Given the description of an element on the screen output the (x, y) to click on. 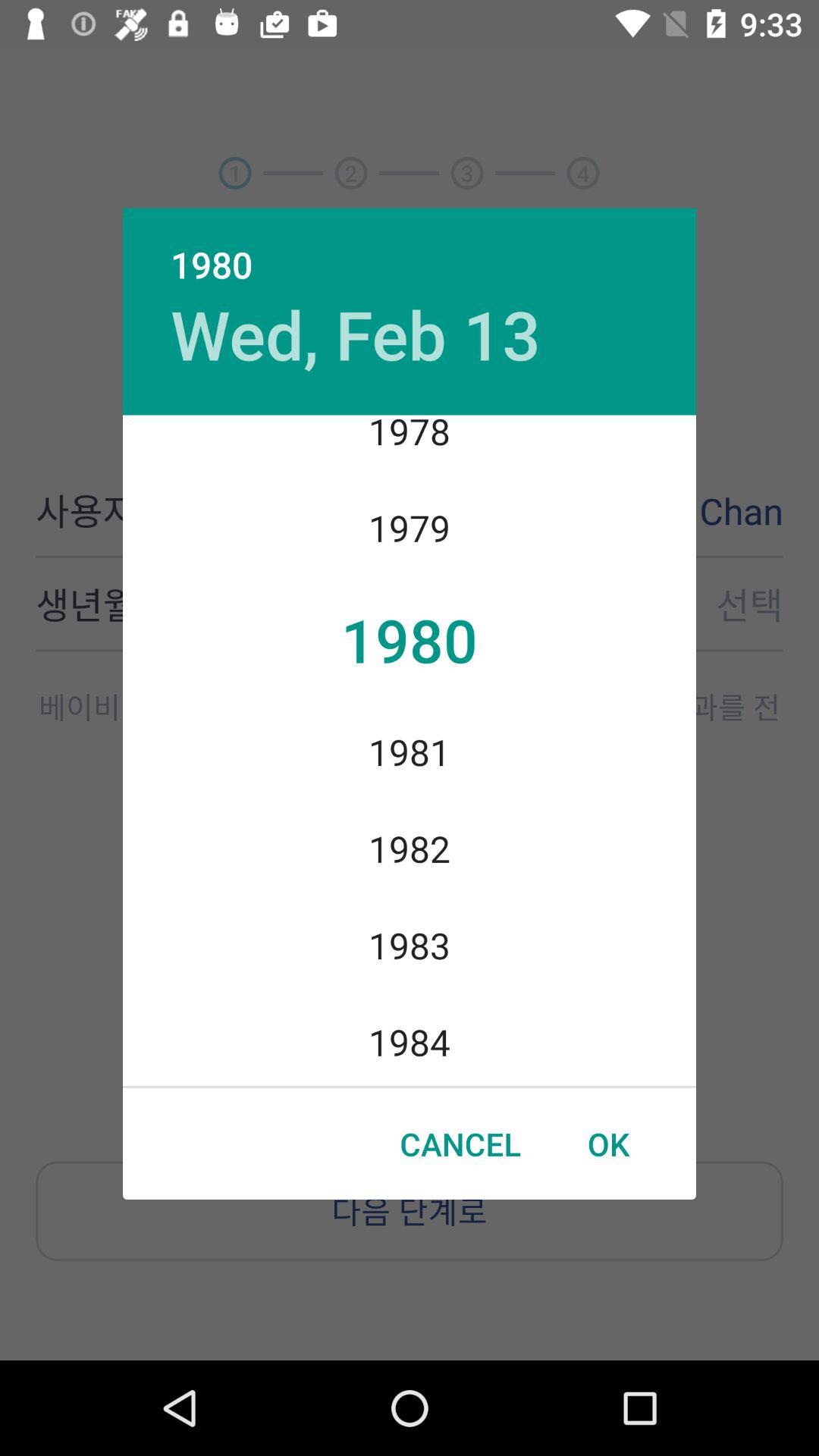
select item to the left of the ok item (459, 1143)
